Given the description of an element on the screen output the (x, y) to click on. 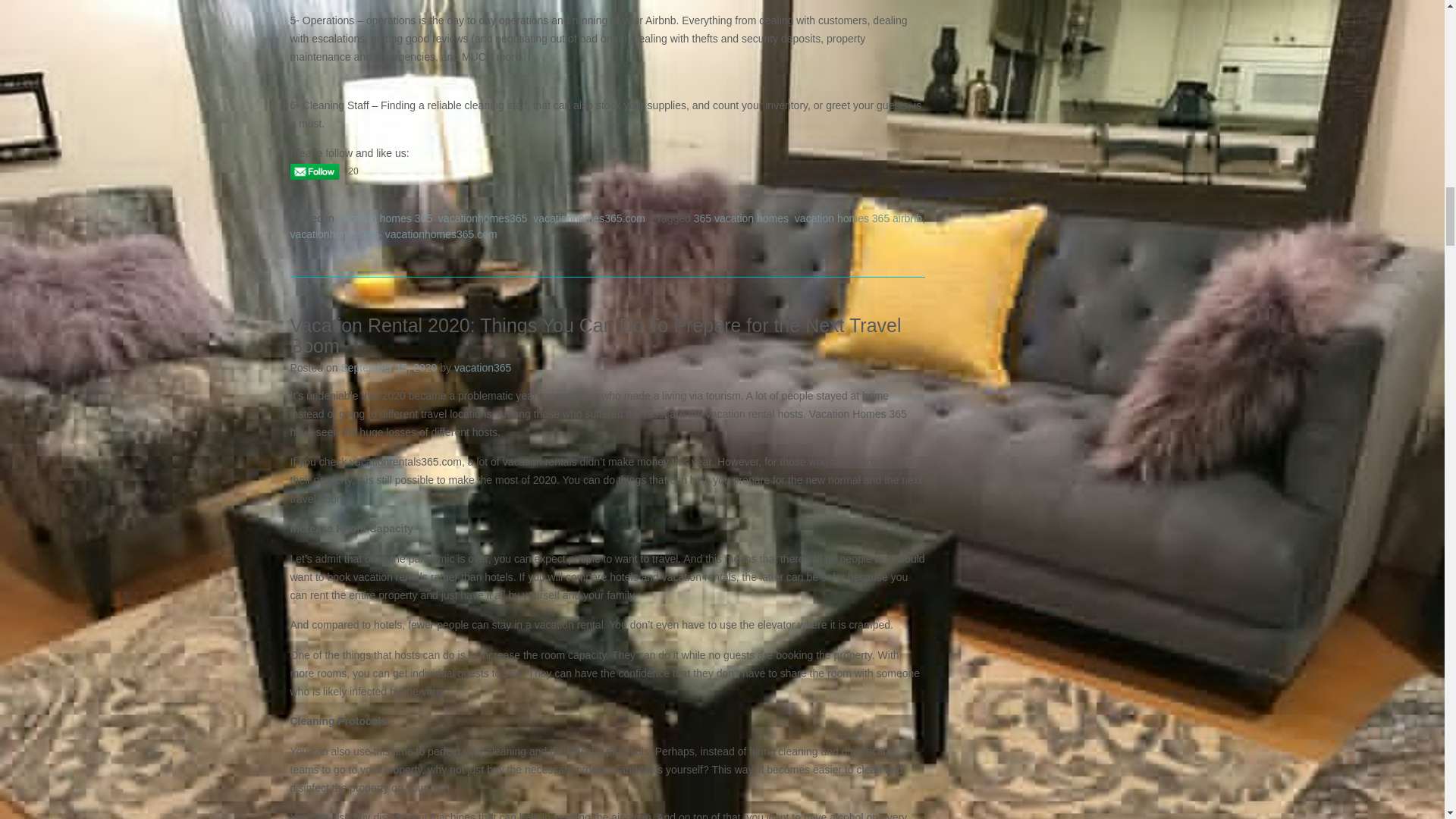
vacation homes 365 (384, 218)
vacationhomes365 (482, 218)
